Given the description of an element on the screen output the (x, y) to click on. 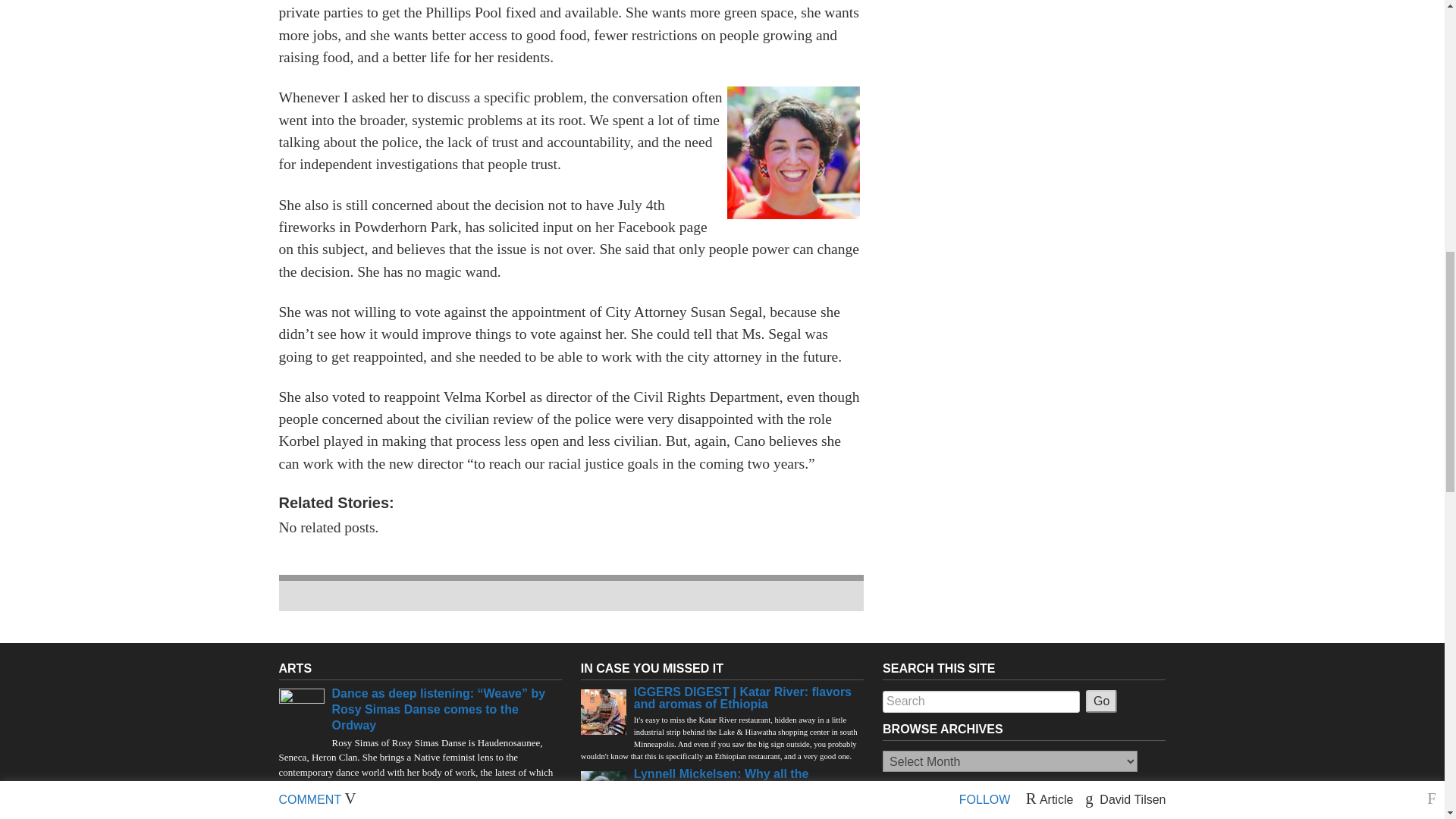
Go (1101, 701)
Go (1101, 701)
